Given the description of an element on the screen output the (x, y) to click on. 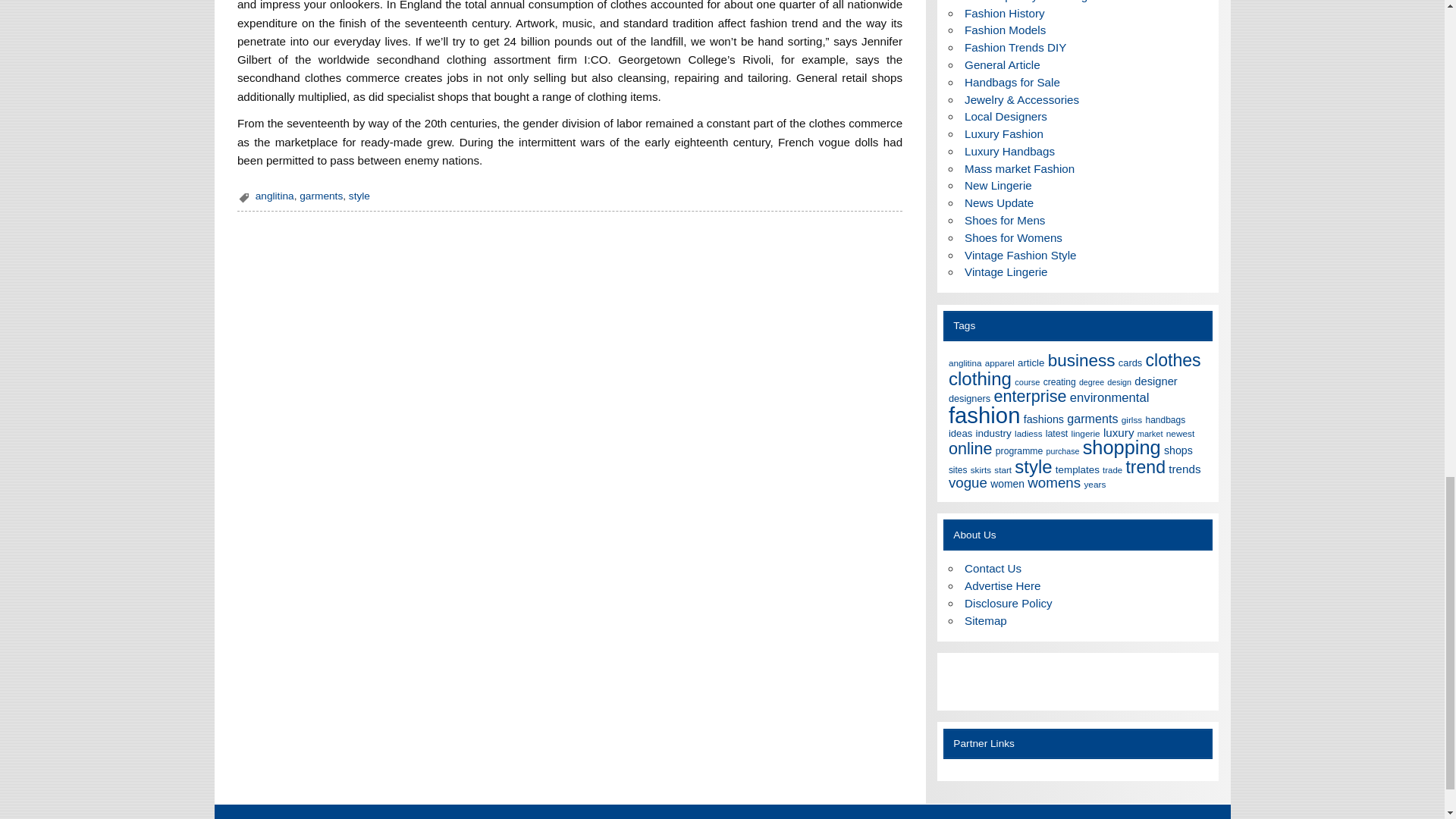
style (359, 195)
garments (320, 195)
anglitina (275, 195)
